Given the description of an element on the screen output the (x, y) to click on. 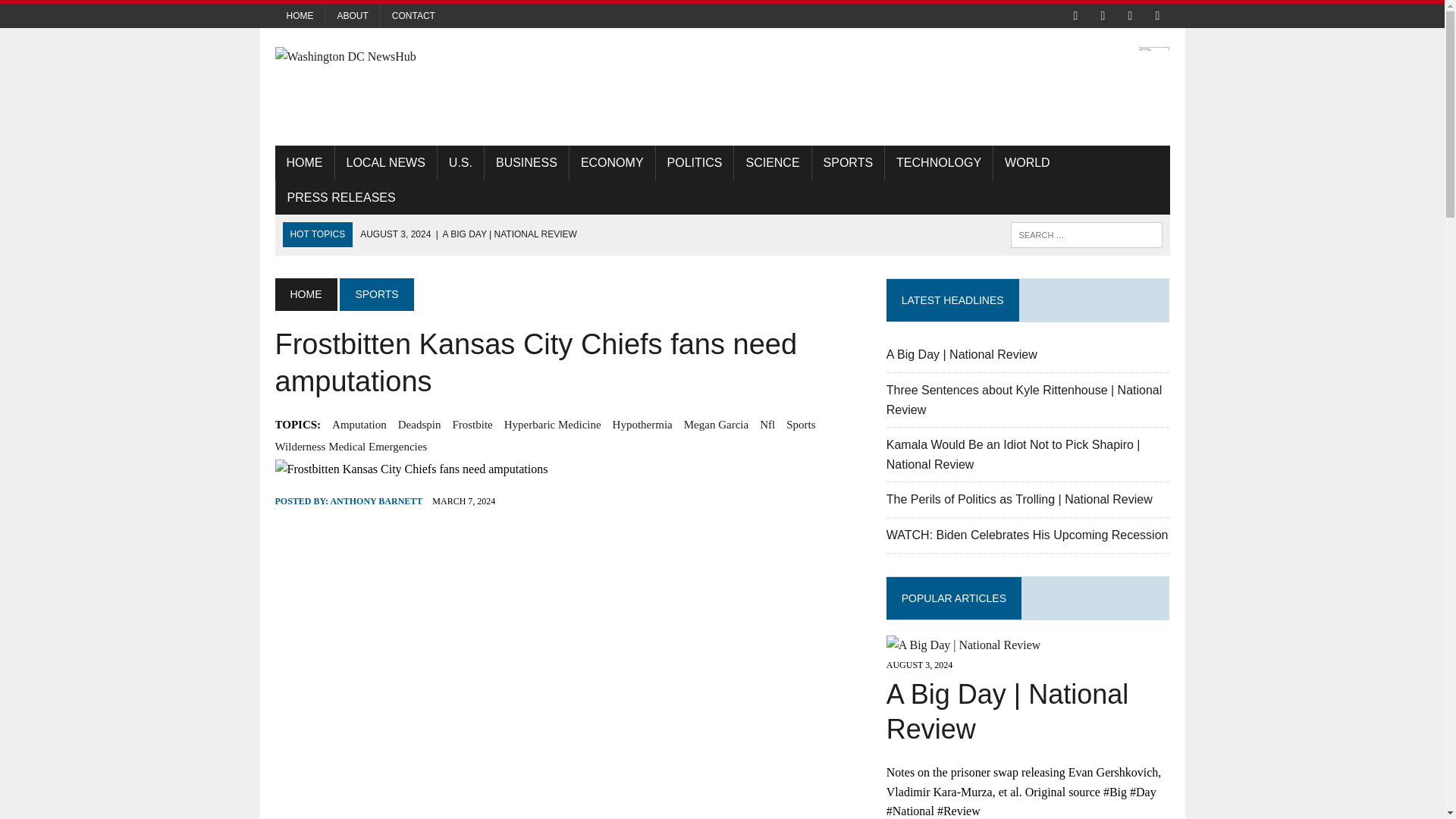
Washington DC NewsHub (416, 56)
POLITICS (694, 162)
ABOUT (353, 15)
SPORTS (376, 294)
Deadspin (419, 424)
Frostbite (471, 424)
BUSINESS (526, 162)
Hyperbaric Medicine (552, 424)
HOME (304, 162)
ANTHONY BARNETT (376, 501)
U.S. (460, 162)
LOCAL NEWS (385, 162)
Megan Garcia (716, 424)
Amputation (359, 424)
CONTACT (413, 15)
